Given the description of an element on the screen output the (x, y) to click on. 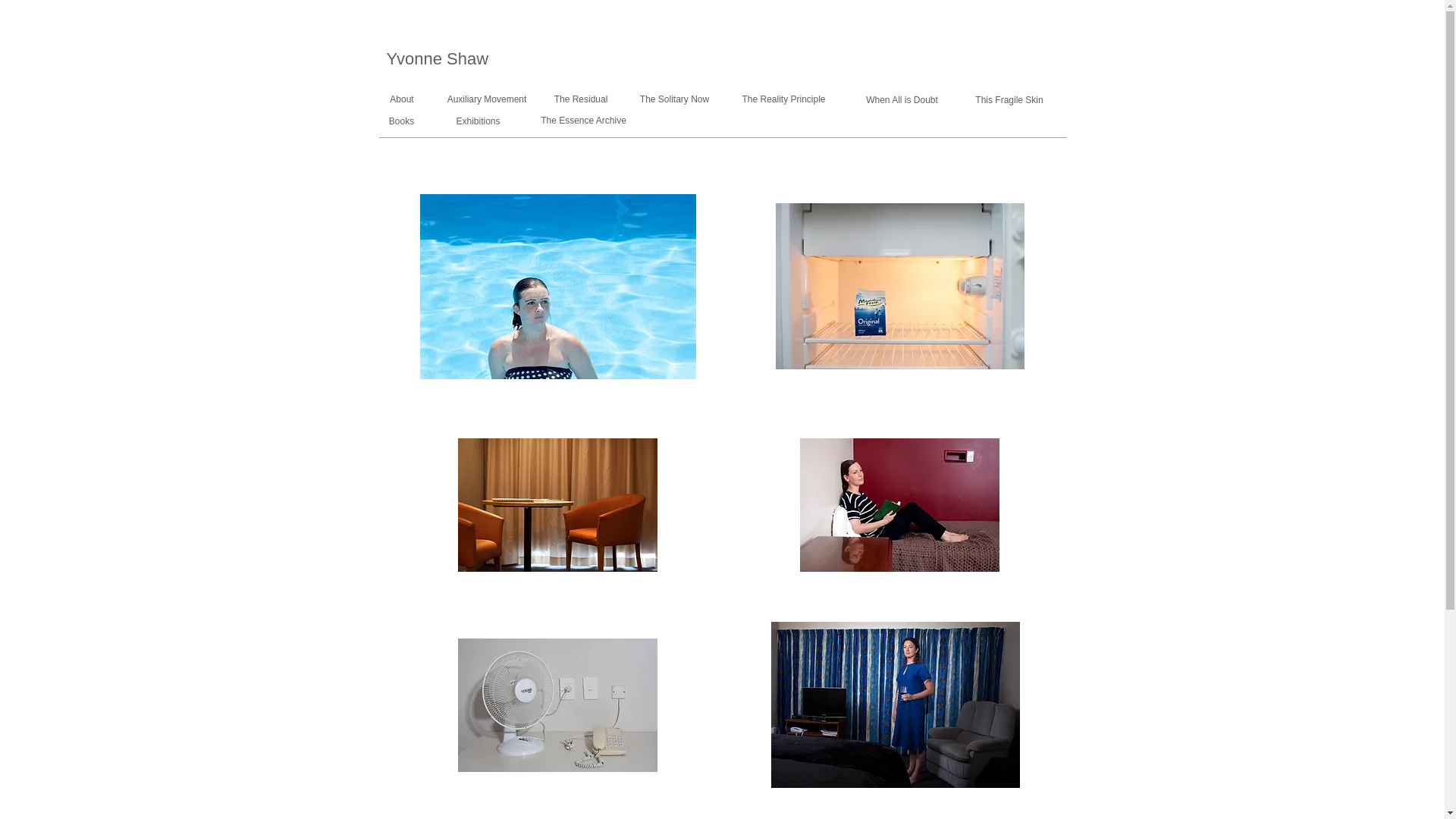
The Essence Archive (583, 120)
Homestead Motor Lodge, 2015 (558, 705)
Books (401, 120)
Auxiliary Movement (486, 99)
About (402, 99)
The Reality Principle (783, 99)
Hobson Motor Inn, 2015 (898, 504)
The Solitary Now (673, 99)
Off Broadway Motel, 2015 (558, 504)
Yvonne Shaw (438, 58)
